Given the description of an element on the screen output the (x, y) to click on. 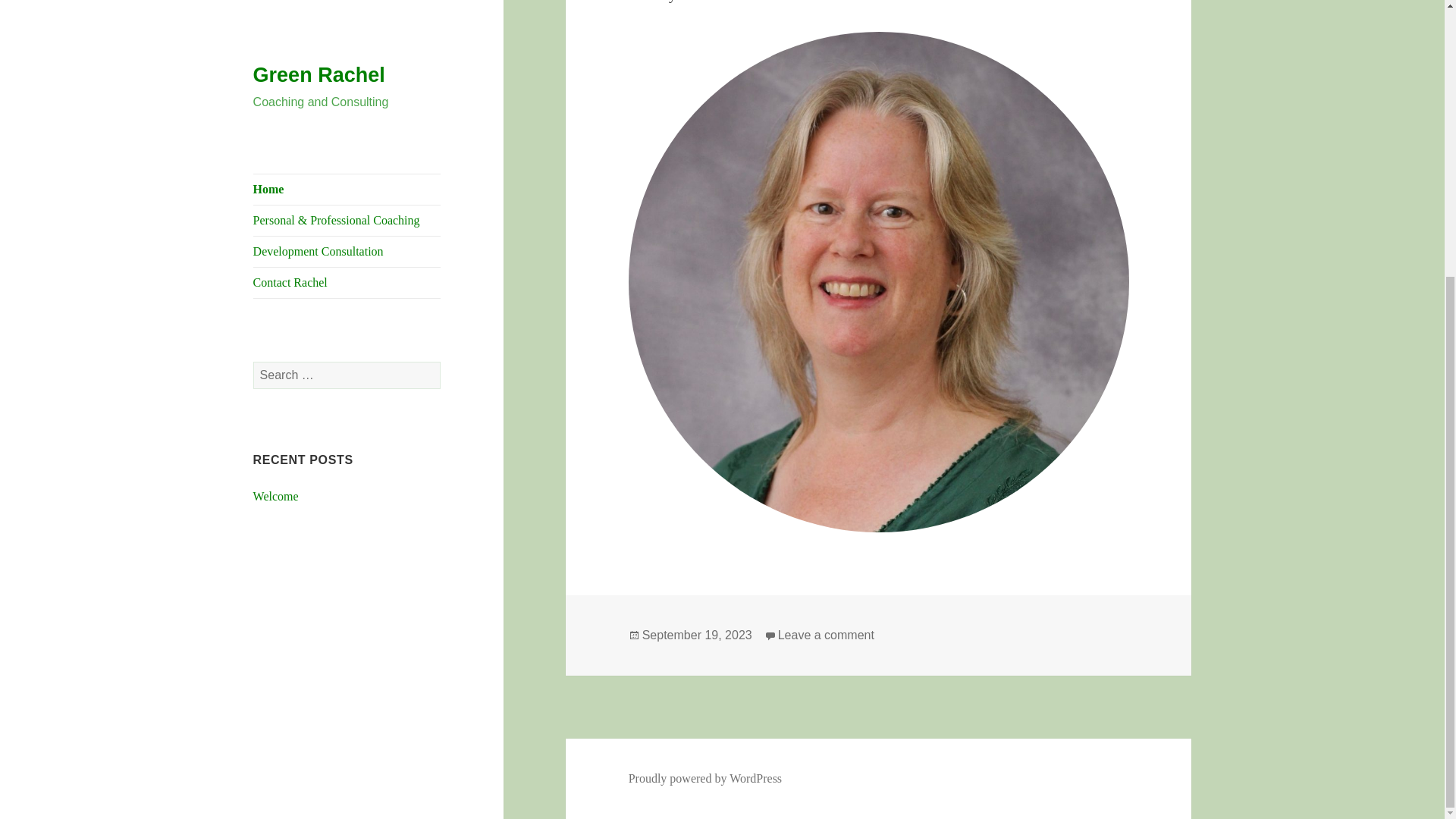
Proudly powered by WordPress (704, 778)
September 19, 2023 (826, 635)
Welcome (697, 635)
